Given the description of an element on the screen output the (x, y) to click on. 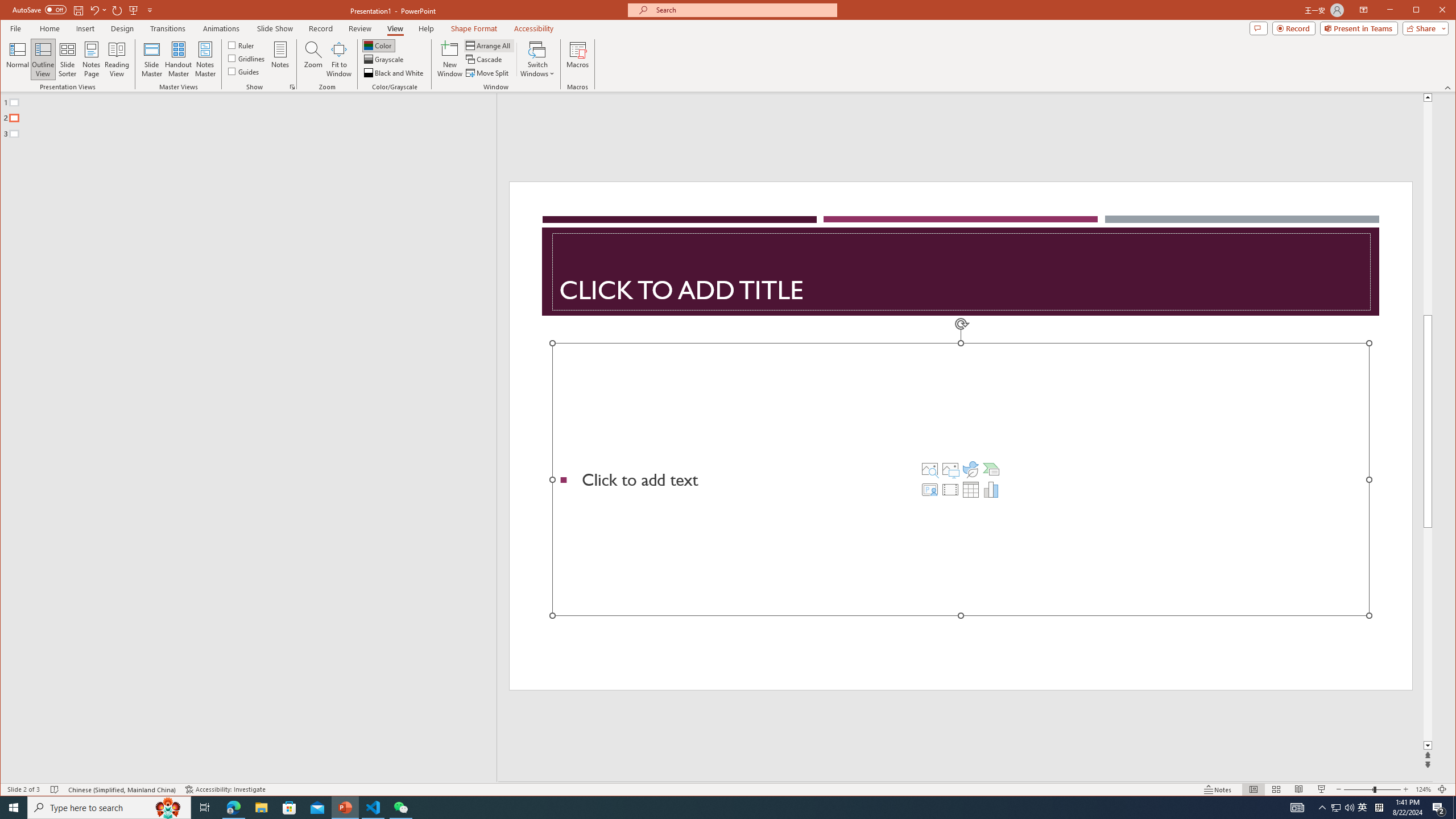
Pictures (949, 469)
Color (378, 45)
Insert a SmartArt Graphic (991, 469)
